Given the description of an element on the screen output the (x, y) to click on. 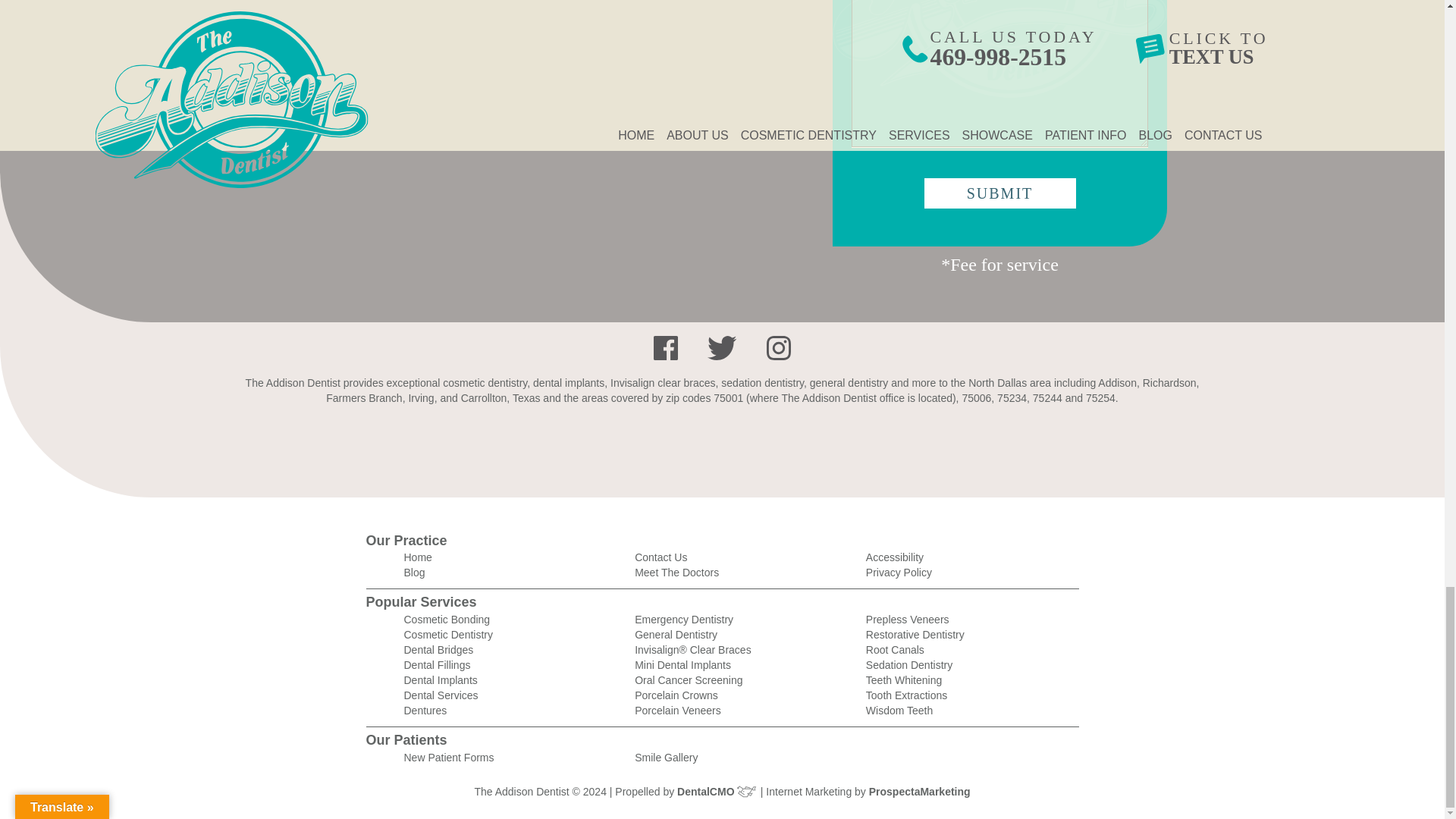
Internet Dental Marketing (920, 791)
Instagram (778, 347)
Submit (999, 193)
